Given the description of an element on the screen output the (x, y) to click on. 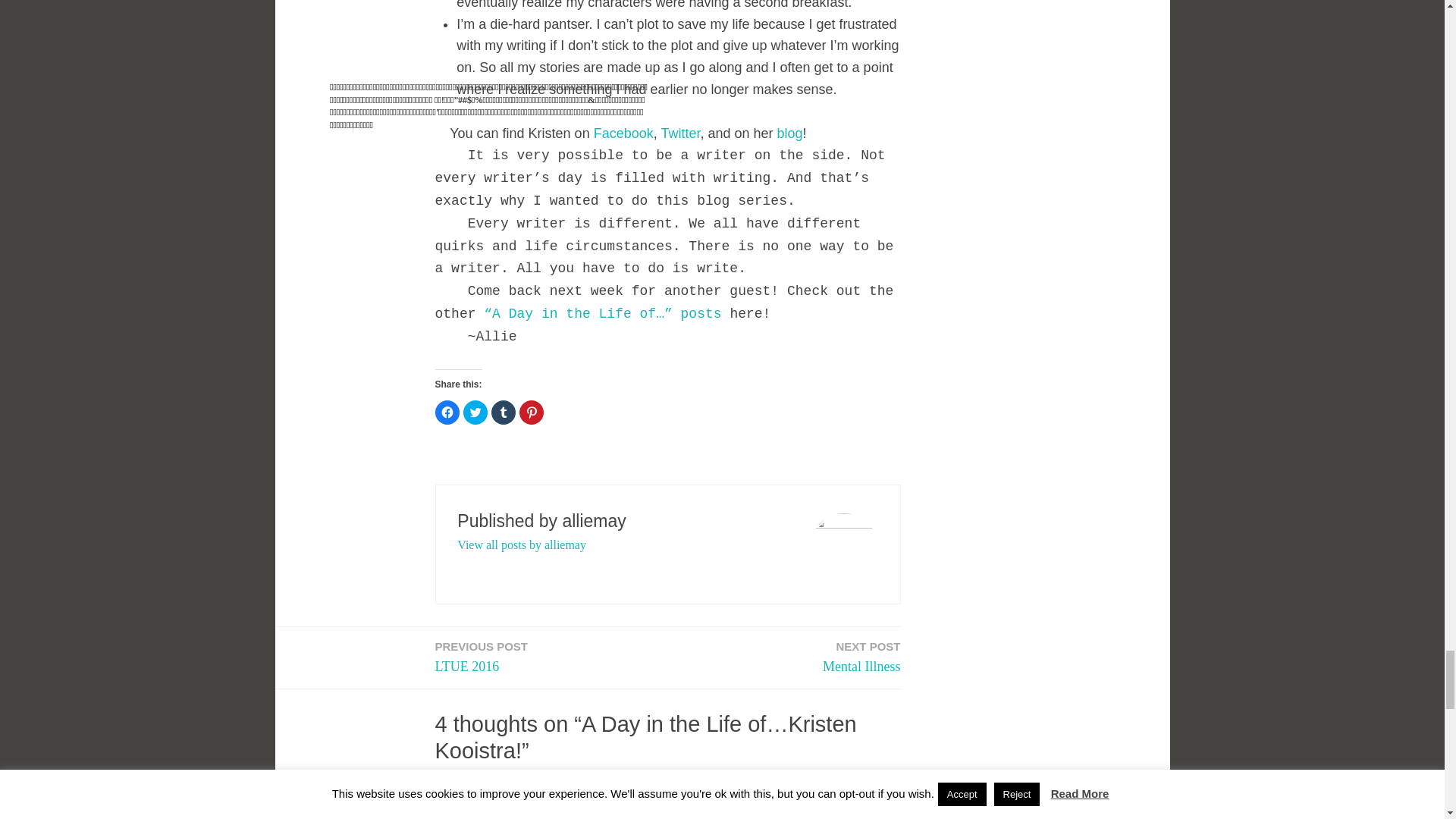
View all posts by alliemay (521, 544)
Click to share on Tumblr (503, 412)
Twitter (680, 133)
blog (481, 658)
Click to share on Facebook (789, 133)
Click to share on Pinterest (447, 412)
Facebook (530, 412)
Click to share on Twitter (623, 133)
